Given the description of an element on the screen output the (x, y) to click on. 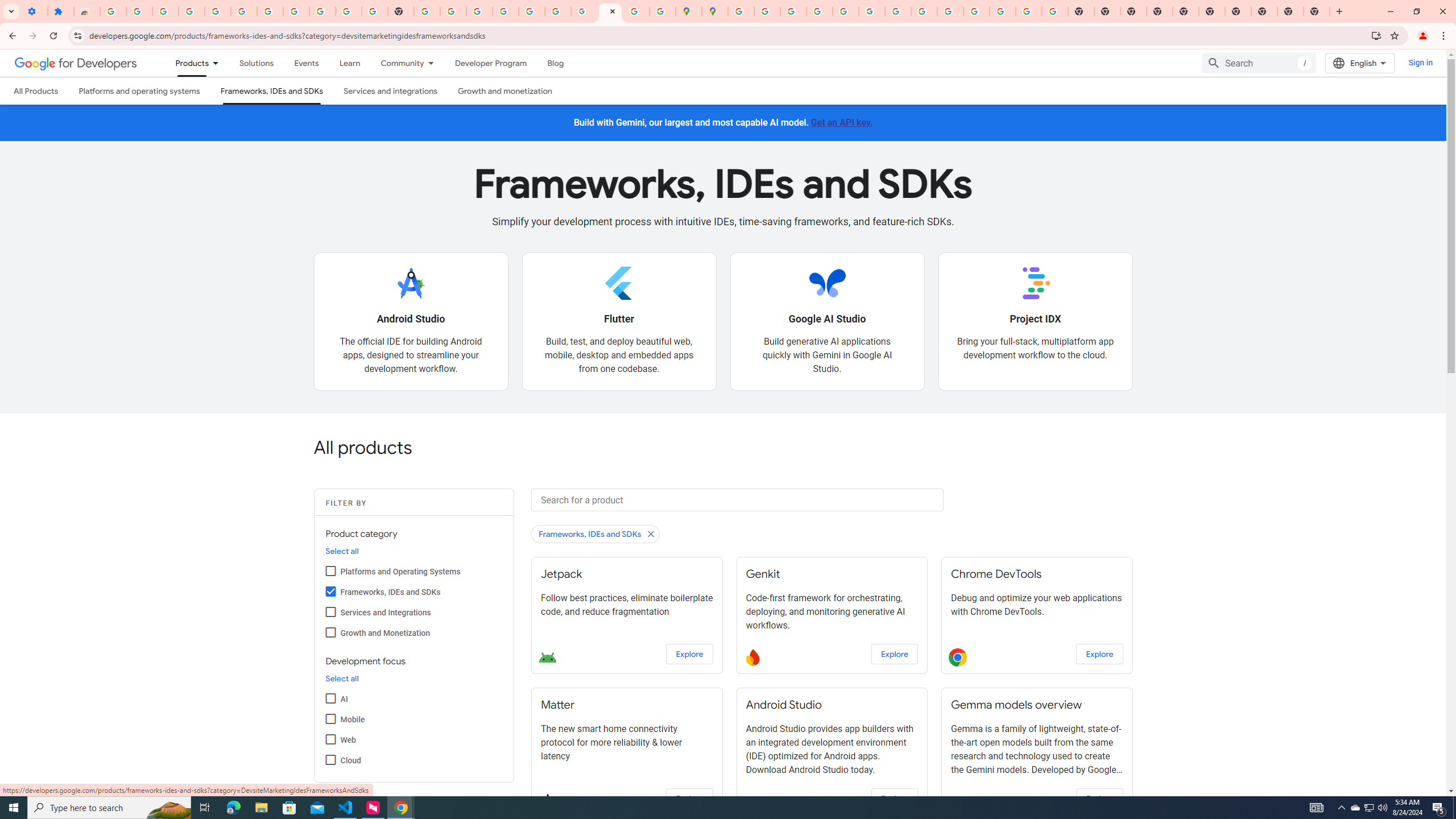
Explore (1098, 798)
Growth and monetization (504, 90)
Safety in Our Products - Google Safety Center (663, 11)
Events (306, 62)
Growth and Monetization (330, 631)
Platforms and operating systems (139, 90)
https://scholar.google.com/ (427, 11)
